Given the description of an element on the screen output the (x, y) to click on. 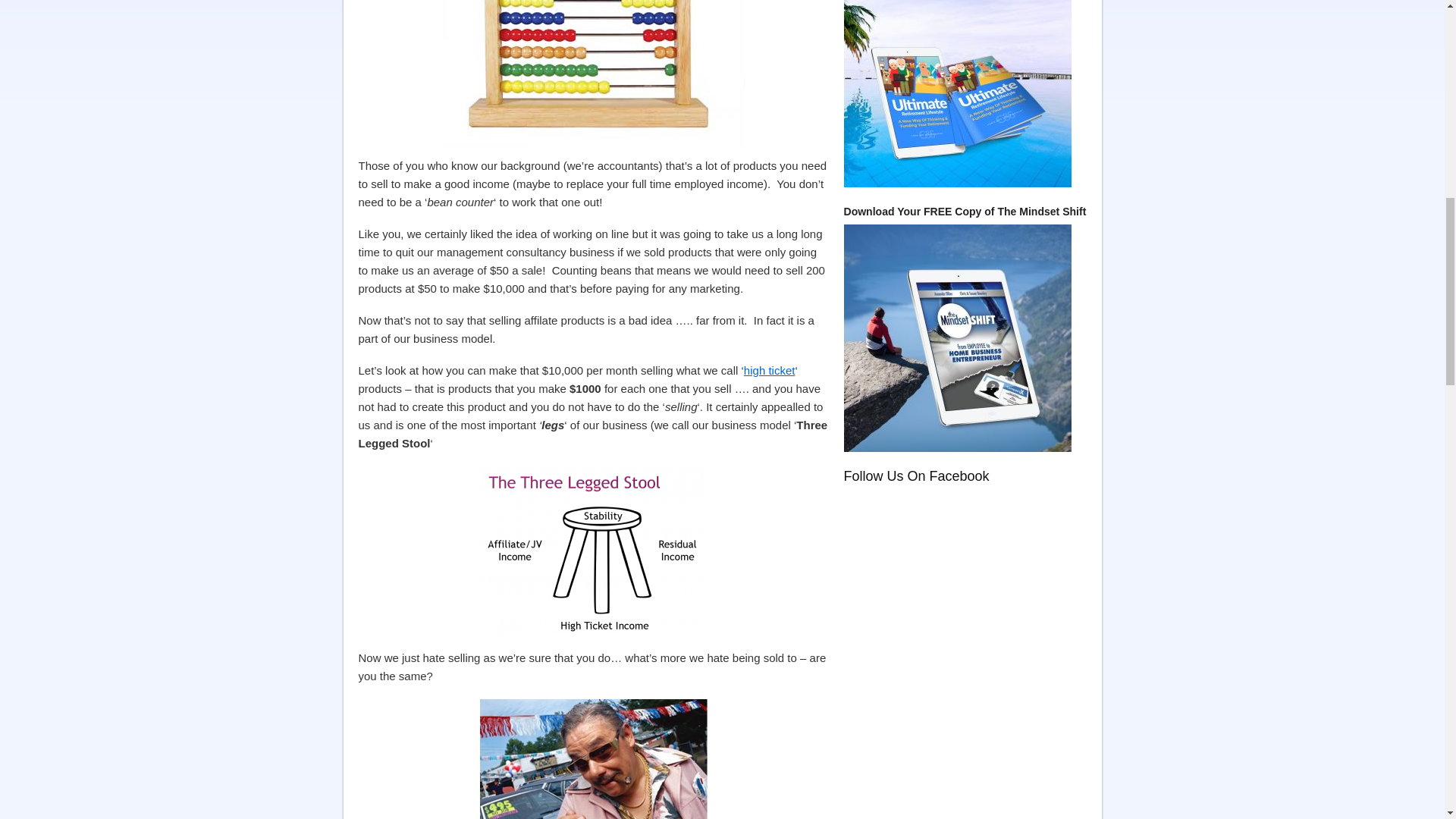
23-09-2011 16-17-42 (592, 550)
high ticket (769, 369)
High Ticket Blog Post (769, 369)
used-car-salesman (592, 759)
BeanCounterAbacus (592, 74)
